Given the description of an element on the screen output the (x, y) to click on. 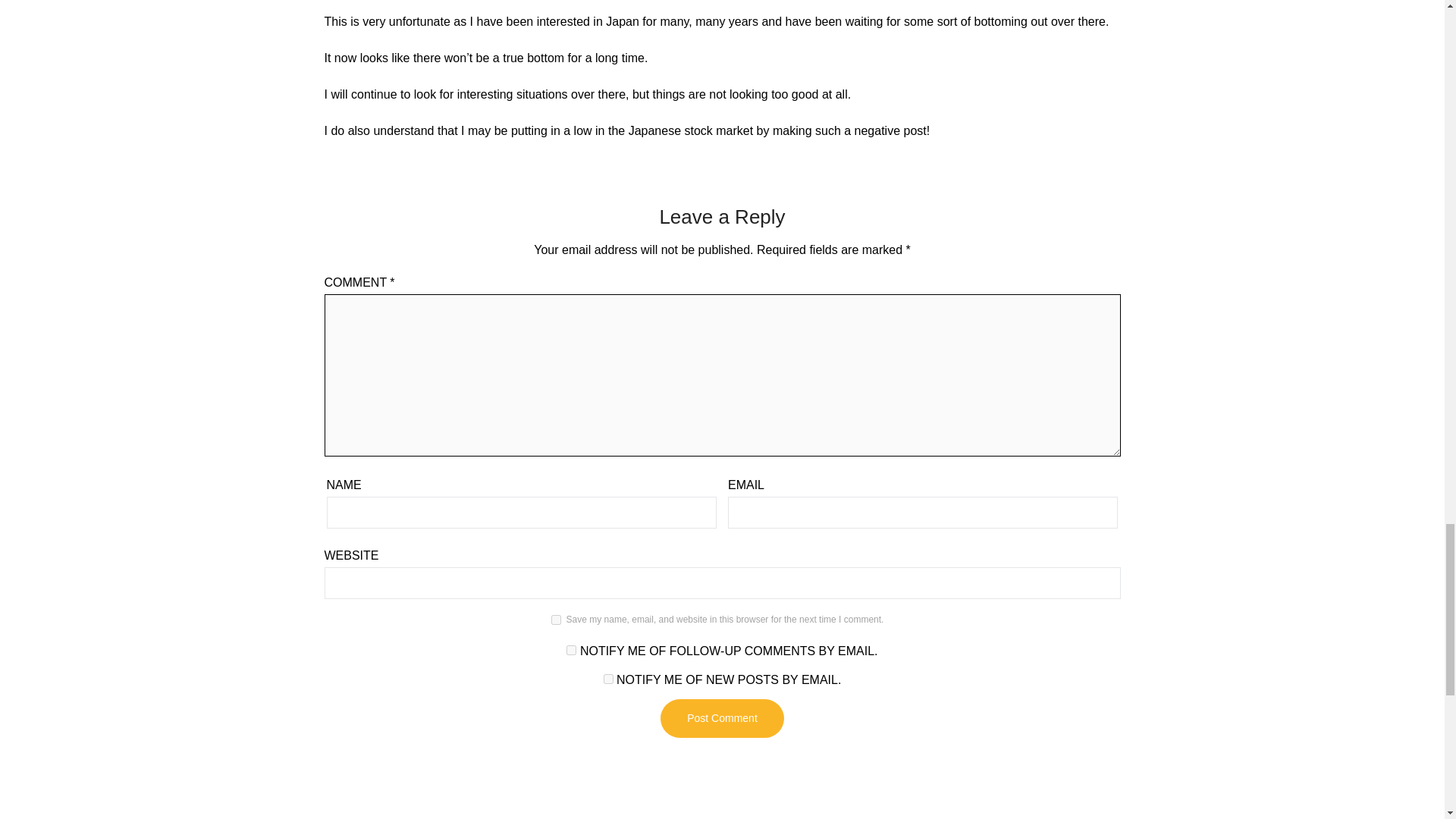
Post Comment (722, 718)
yes (555, 619)
Post Comment (722, 718)
subscribe (608, 678)
subscribe (571, 650)
